Given the description of an element on the screen output the (x, y) to click on. 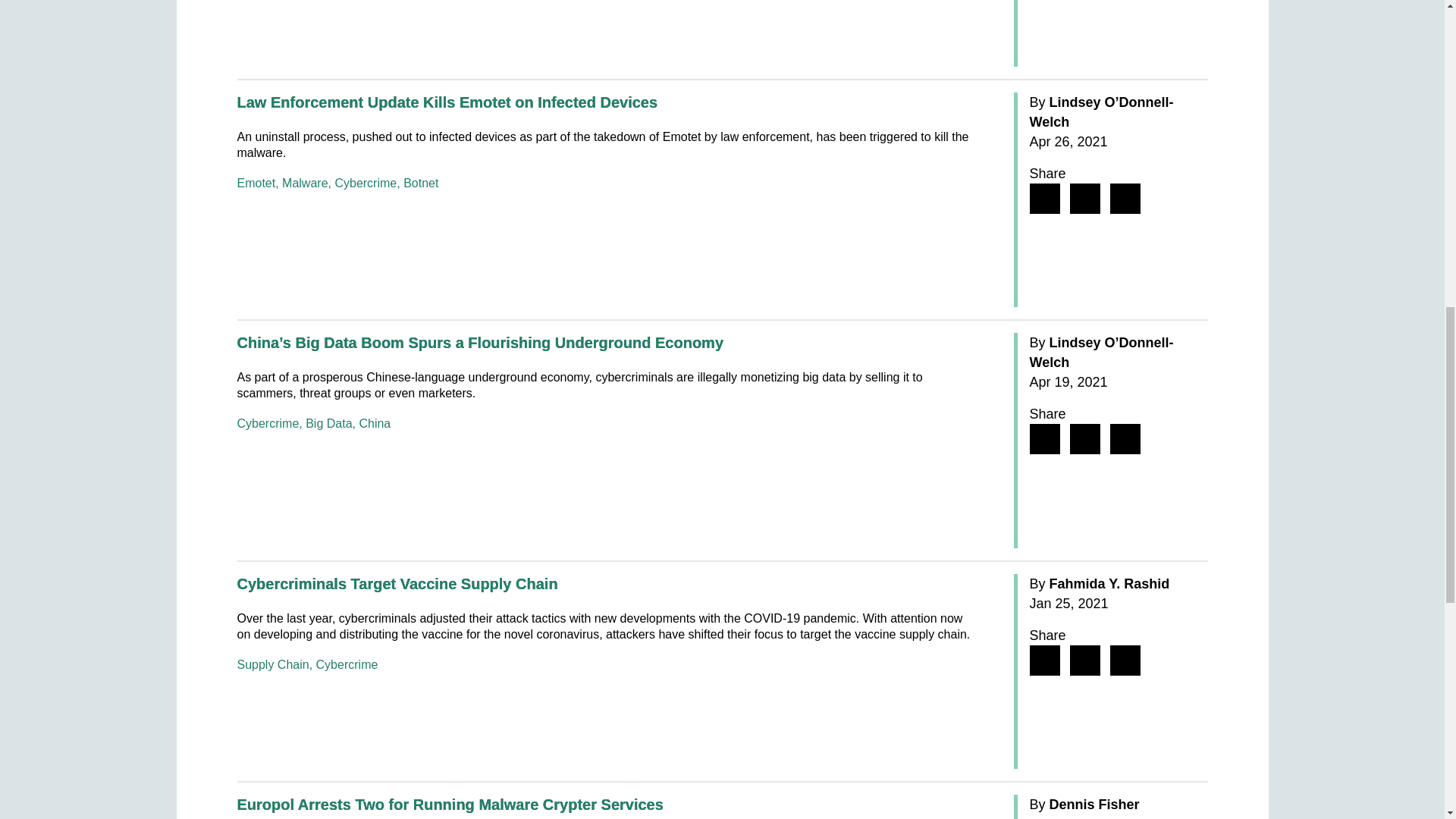
Cybercrime (266, 422)
Supply Chain (271, 664)
Law Enforcement Update Kills Emotet on Infected Devices (446, 102)
Malware (304, 182)
Cybercriminals Target Vaccine Supply Chain (396, 583)
Cybercrime (346, 664)
Botnet (420, 182)
Big Data (328, 422)
China (374, 422)
Emotet (255, 182)
Cybercrime (365, 182)
